Given the description of an element on the screen output the (x, y) to click on. 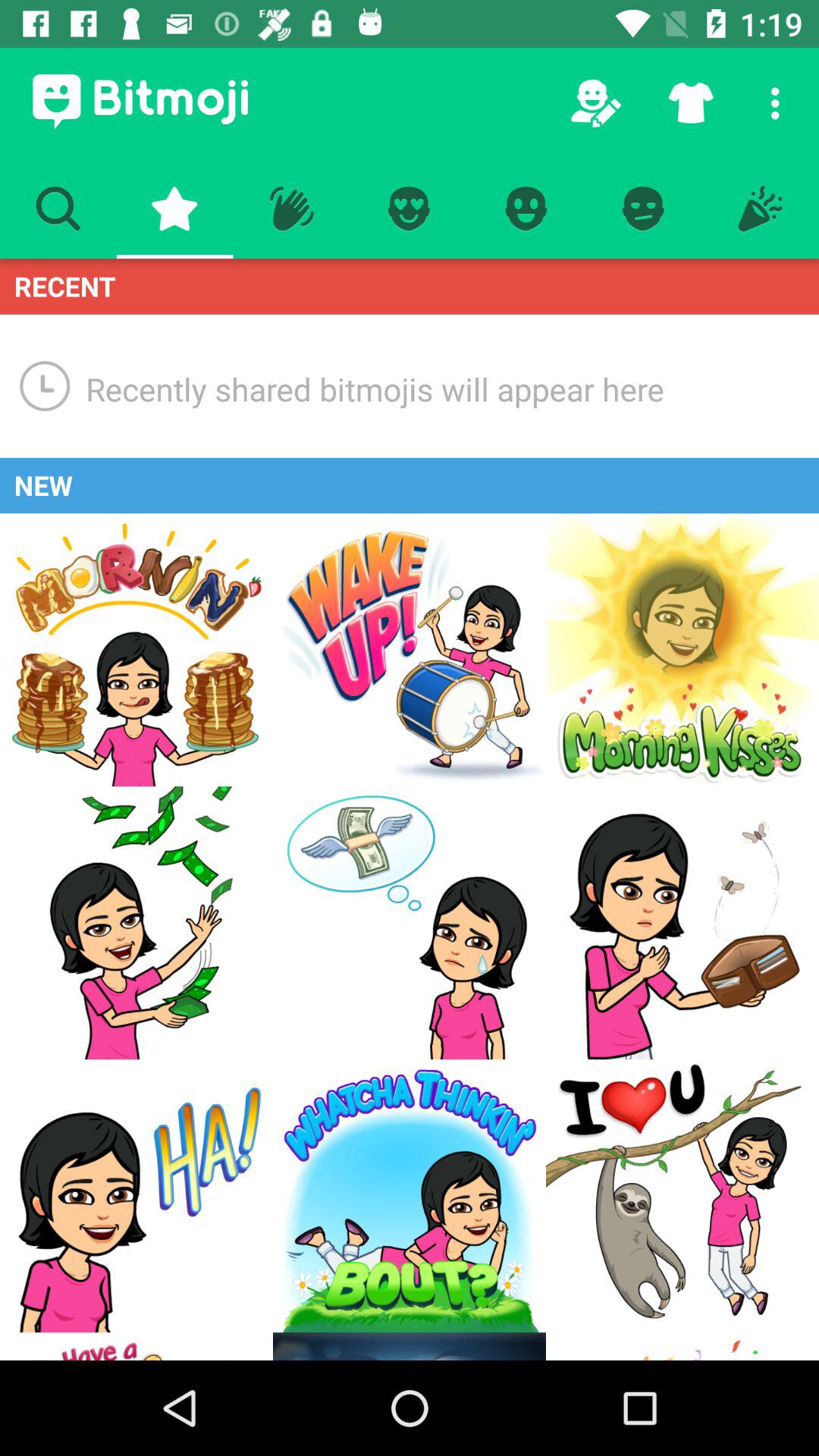
bitmojis (682, 649)
